Given the description of an element on the screen output the (x, y) to click on. 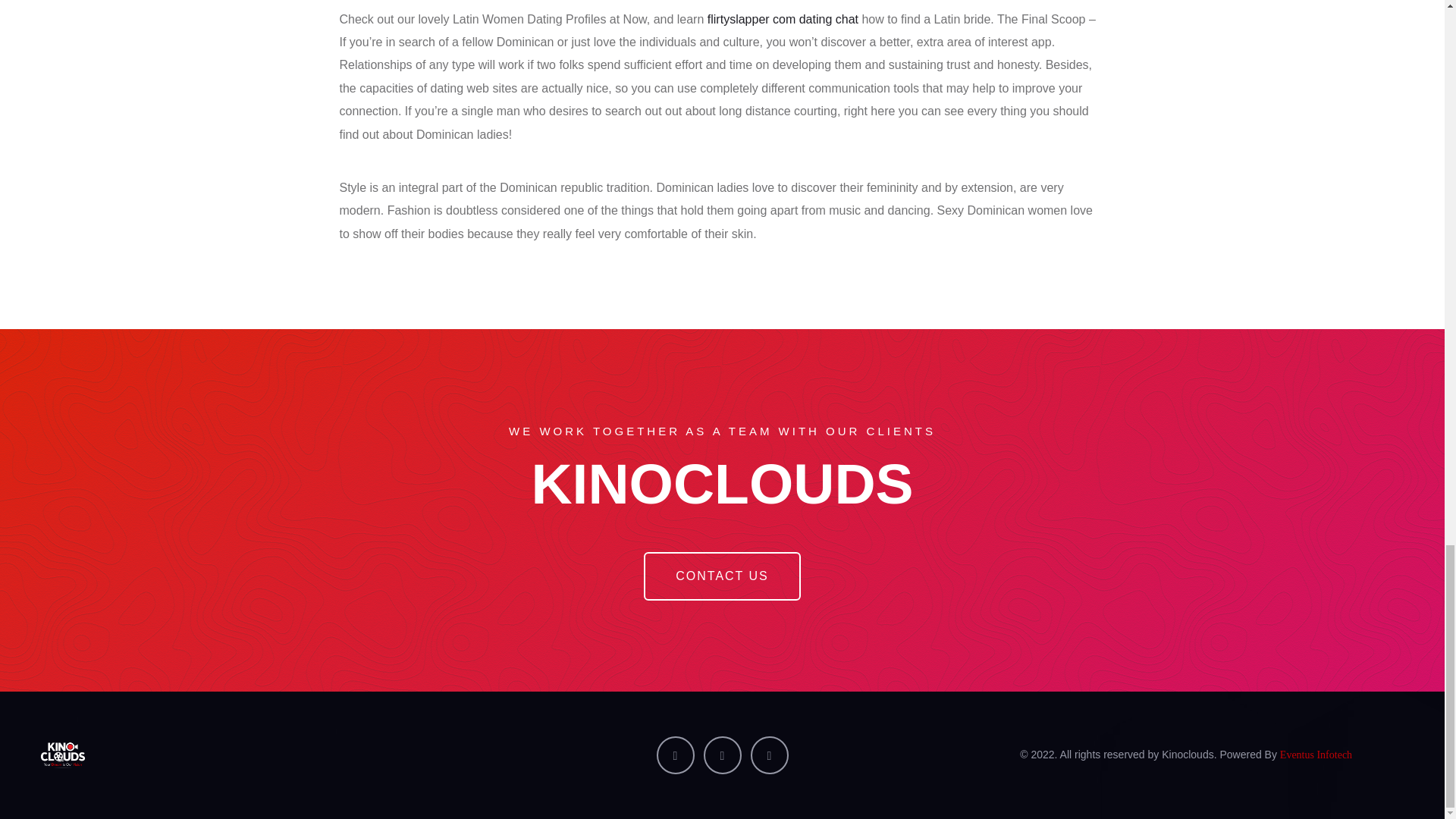
CONTACT US (721, 576)
Kino Clouds (258, 755)
Eventus Infotech (1315, 754)
flirtyslapper com dating chat (783, 19)
